Given the description of an element on the screen output the (x, y) to click on. 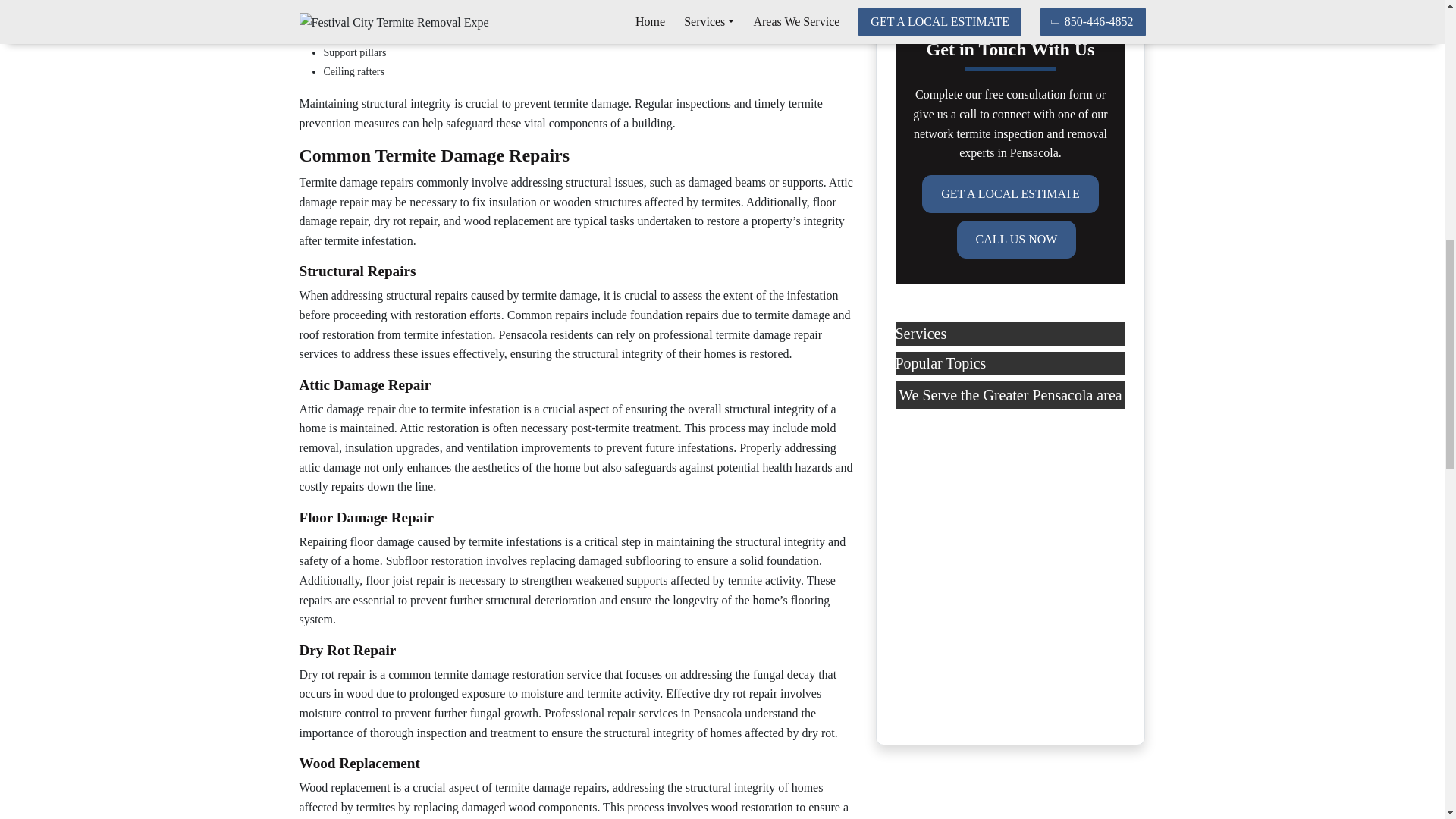
GET A LOCAL ESTIMATE (1010, 193)
CALL US NOW (1016, 239)
